Given the description of an element on the screen output the (x, y) to click on. 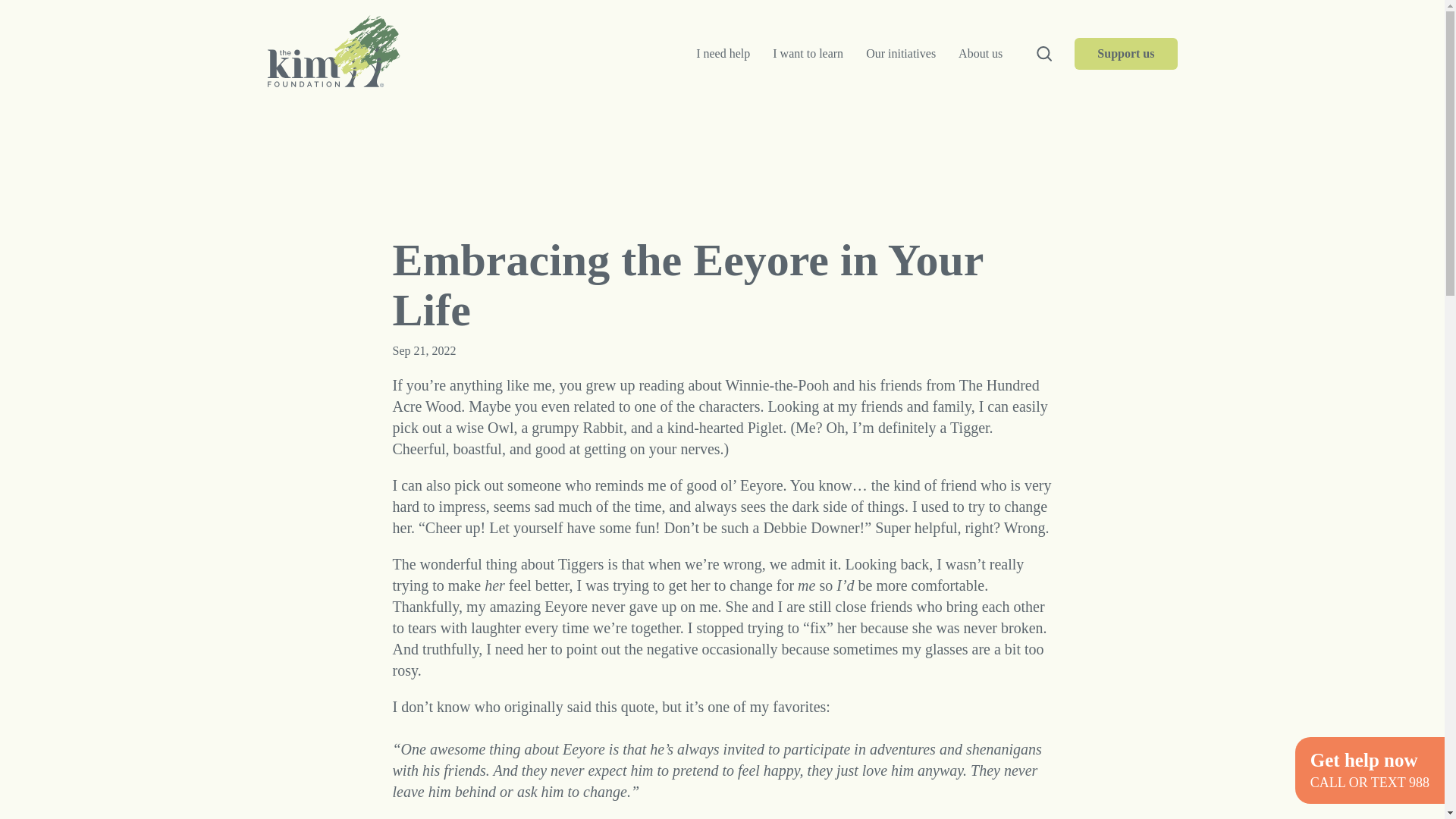
Our initiatives (900, 53)
Support us (1125, 53)
I want to learn (807, 53)
About us (980, 53)
I need help (722, 53)
